Given the description of an element on the screen output the (x, y) to click on. 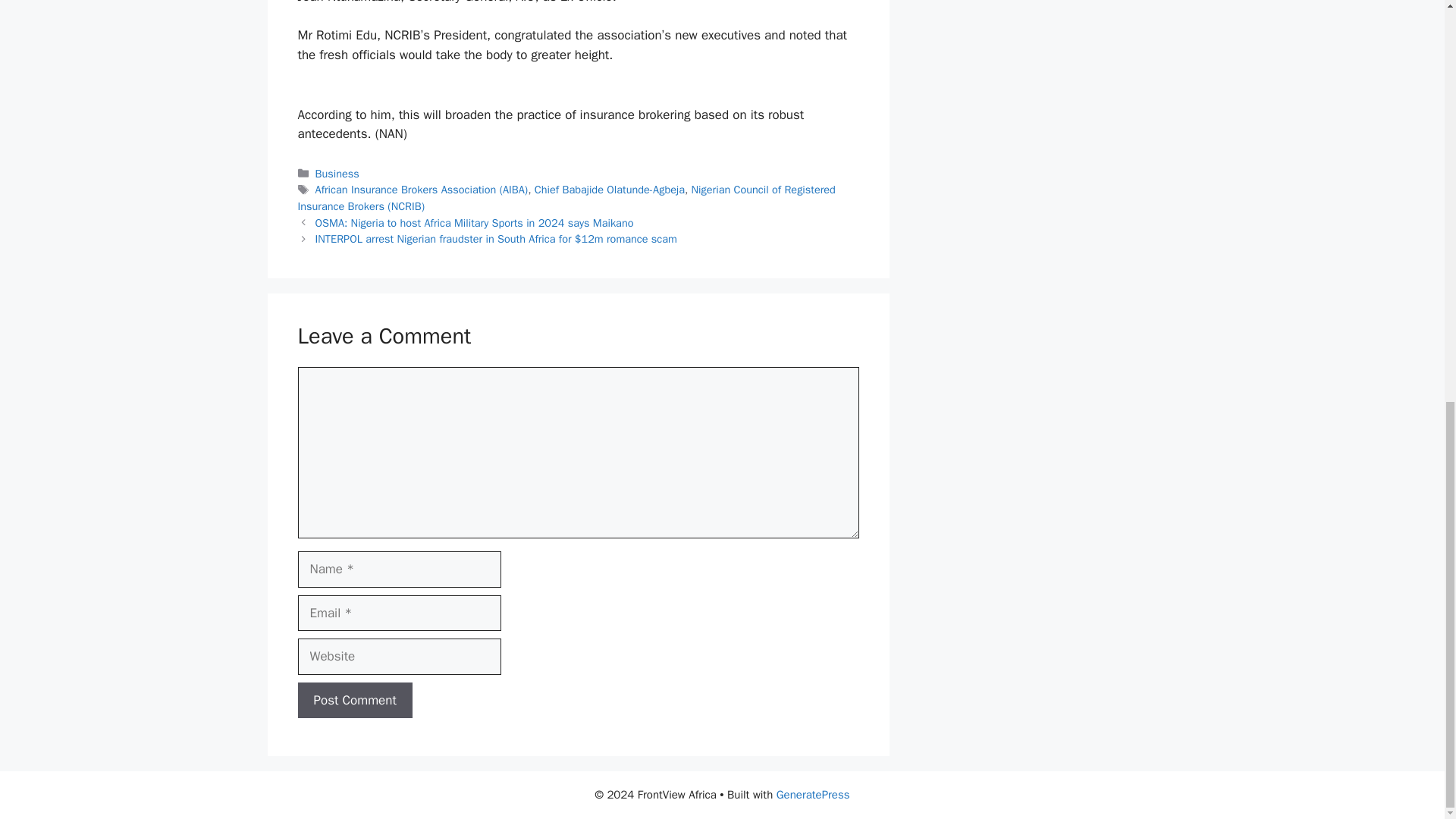
GeneratePress (813, 794)
Chief Babajide Olatunde-Agbeja (609, 189)
Business (337, 173)
Post Comment (354, 700)
Post Comment (354, 700)
